Given the description of an element on the screen output the (x, y) to click on. 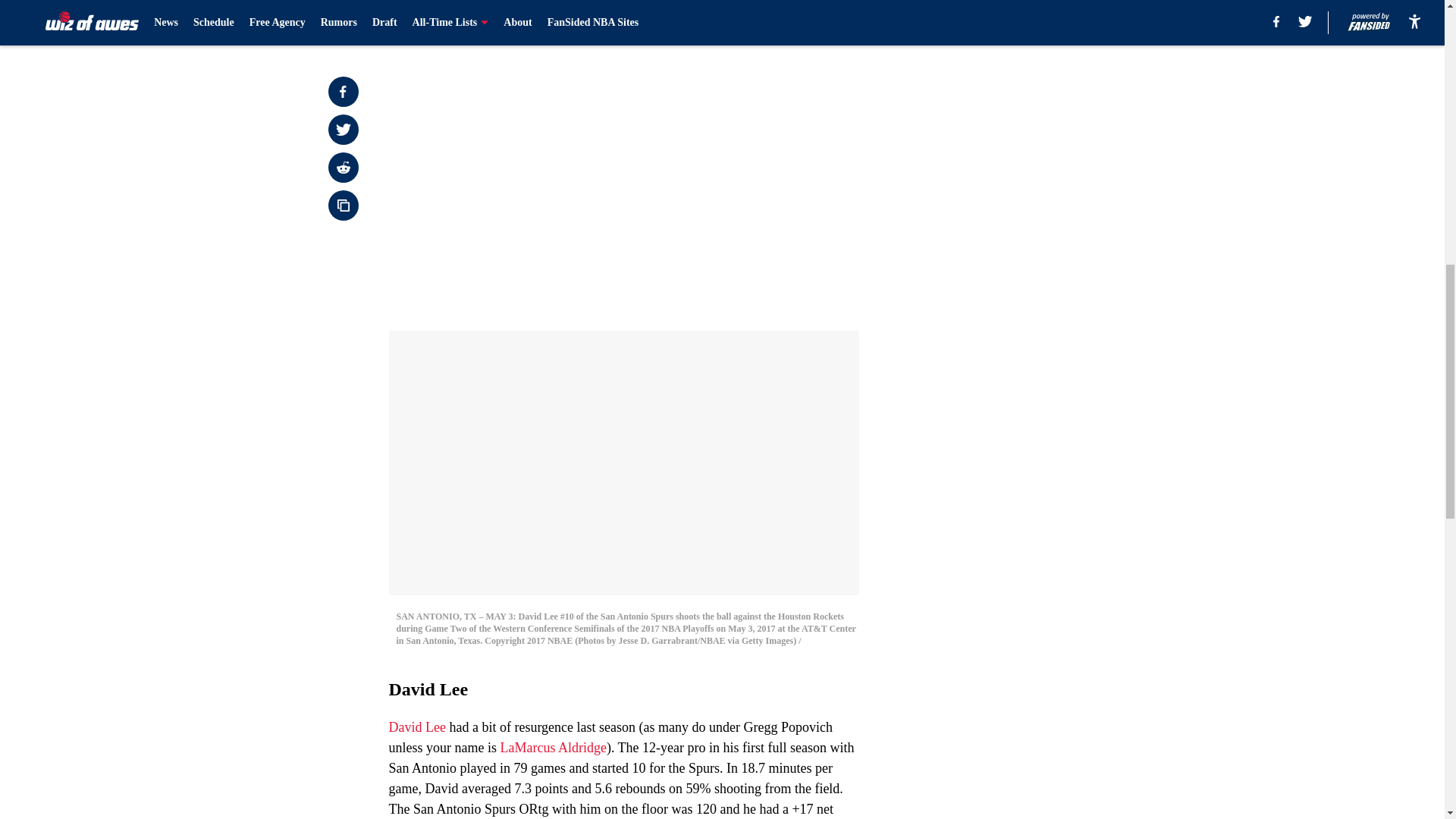
David Lee (416, 726)
Next (813, 20)
Prev (433, 20)
LaMarcus Aldridge (552, 747)
